Given the description of an element on the screen output the (x, y) to click on. 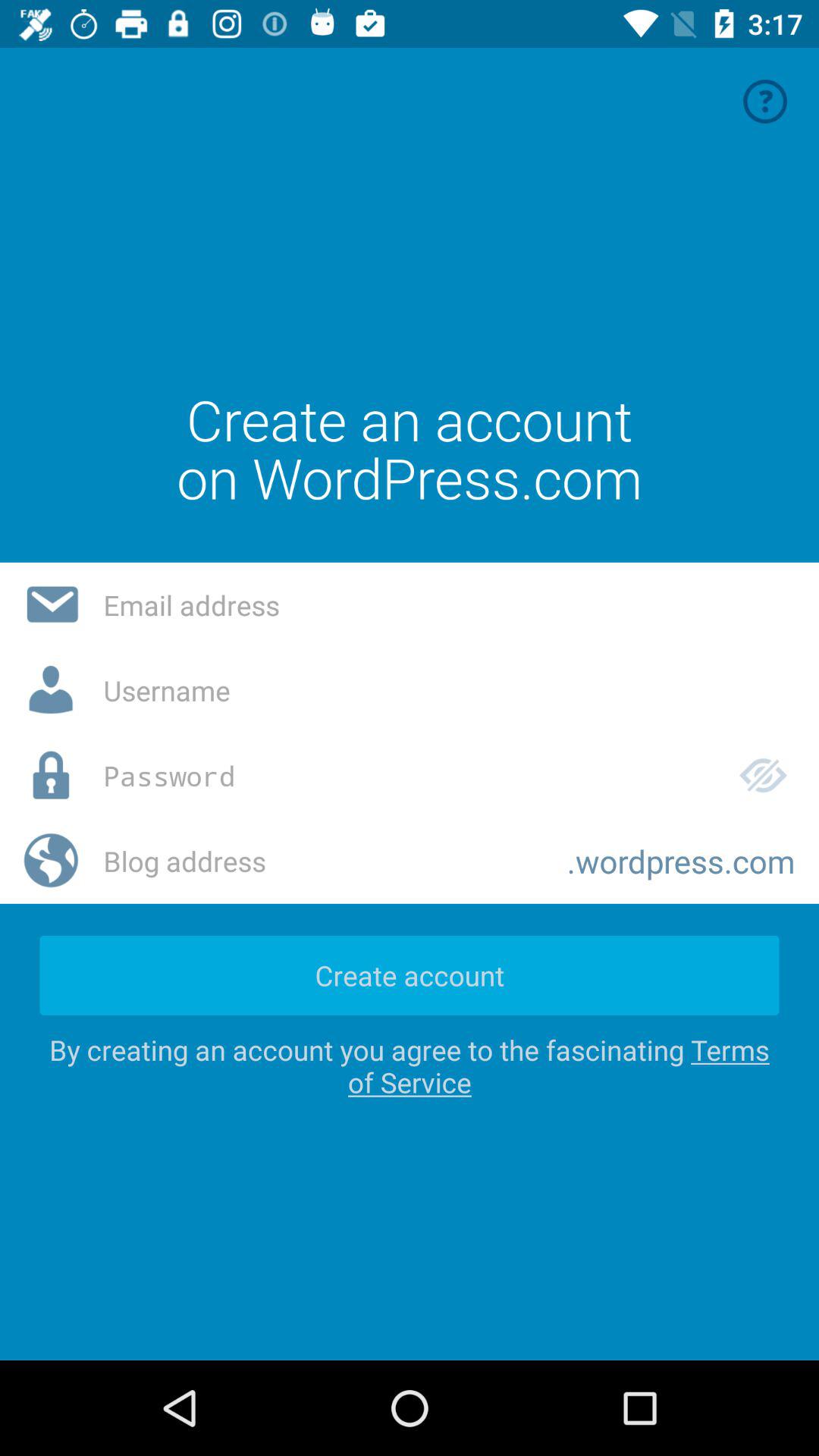
enter a username (449, 690)
